Given the description of an element on the screen output the (x, y) to click on. 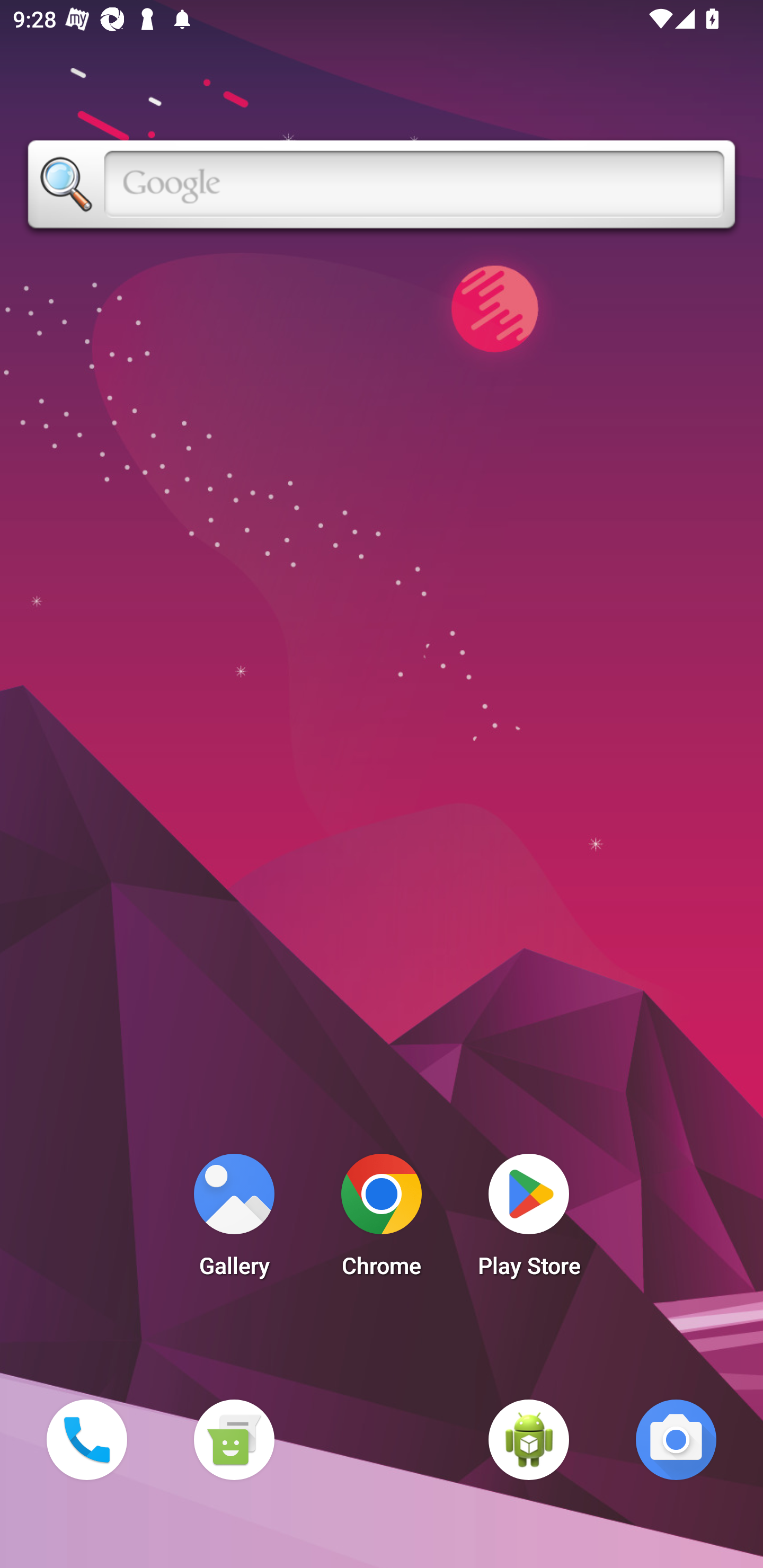
Gallery (233, 1220)
Chrome (381, 1220)
Play Store (528, 1220)
Phone (86, 1439)
Messaging (233, 1439)
WebView Browser Tester (528, 1439)
Camera (676, 1439)
